Given the description of an element on the screen output the (x, y) to click on. 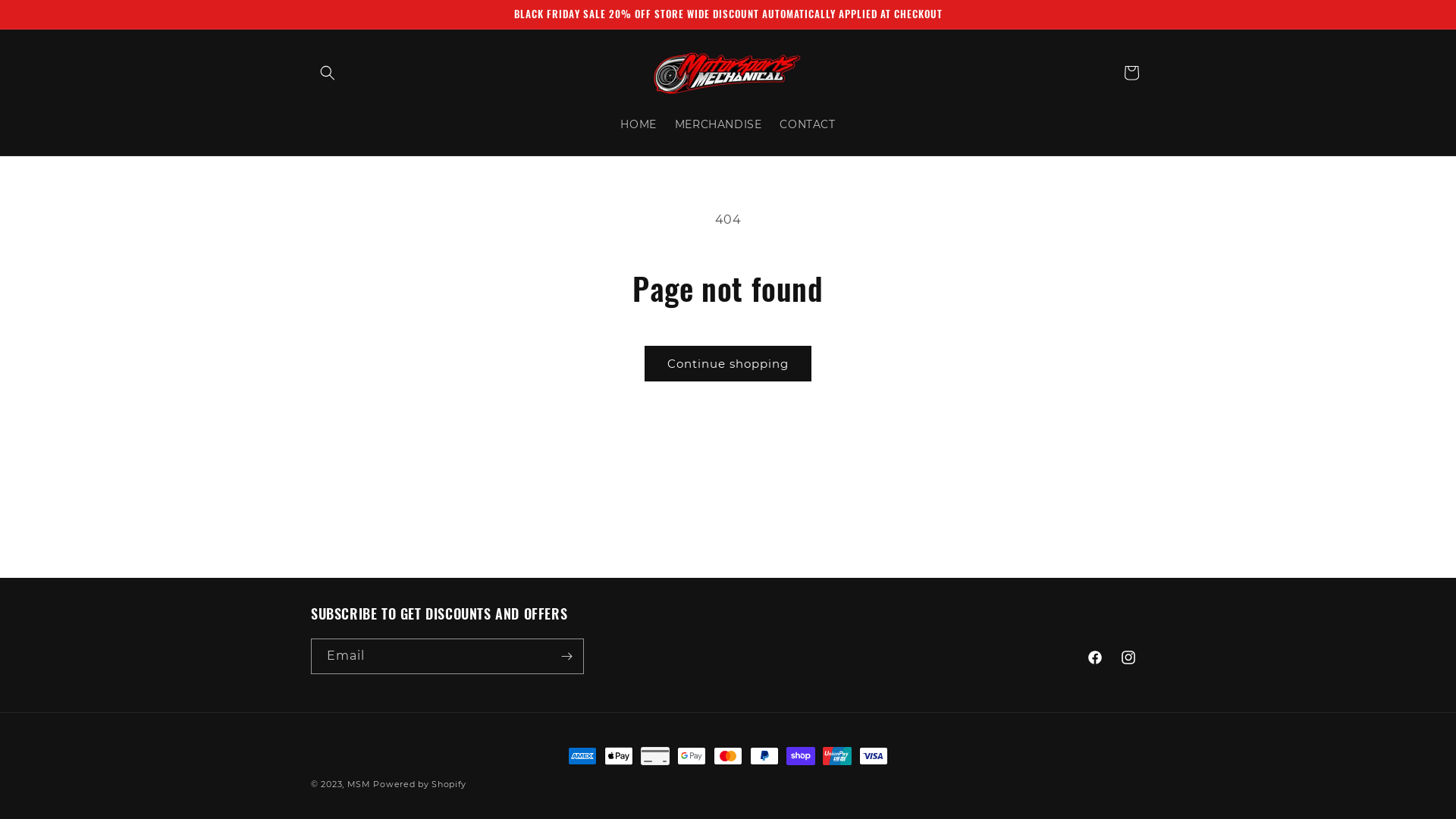
Continue shopping Element type: text (727, 363)
Facebook Element type: text (1094, 657)
Powered by Shopify Element type: text (419, 783)
CONTACT Element type: text (807, 123)
Cart Element type: text (1131, 72)
HOME Element type: text (638, 123)
MERCHANDISE Element type: text (718, 123)
Instagram Element type: text (1128, 657)
MSM Element type: text (358, 783)
